Given the description of an element on the screen output the (x, y) to click on. 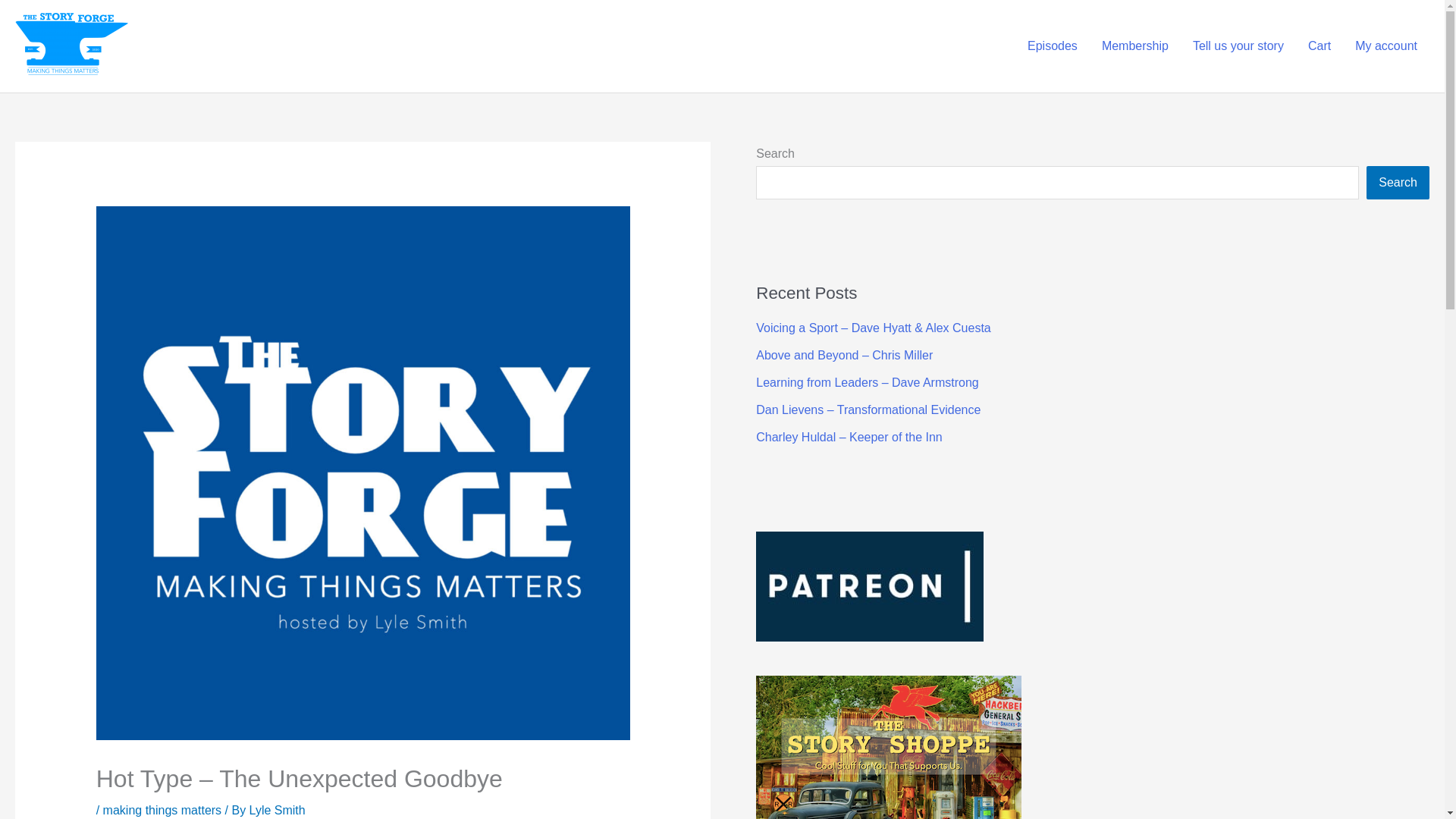
making things matters (162, 809)
Lyle Smith (276, 809)
Search (1398, 182)
Membership (1134, 45)
Tell us your story (1237, 45)
View all posts by Lyle Smith (276, 809)
Episodes (1051, 45)
My account (1385, 45)
